Given the description of an element on the screen output the (x, y) to click on. 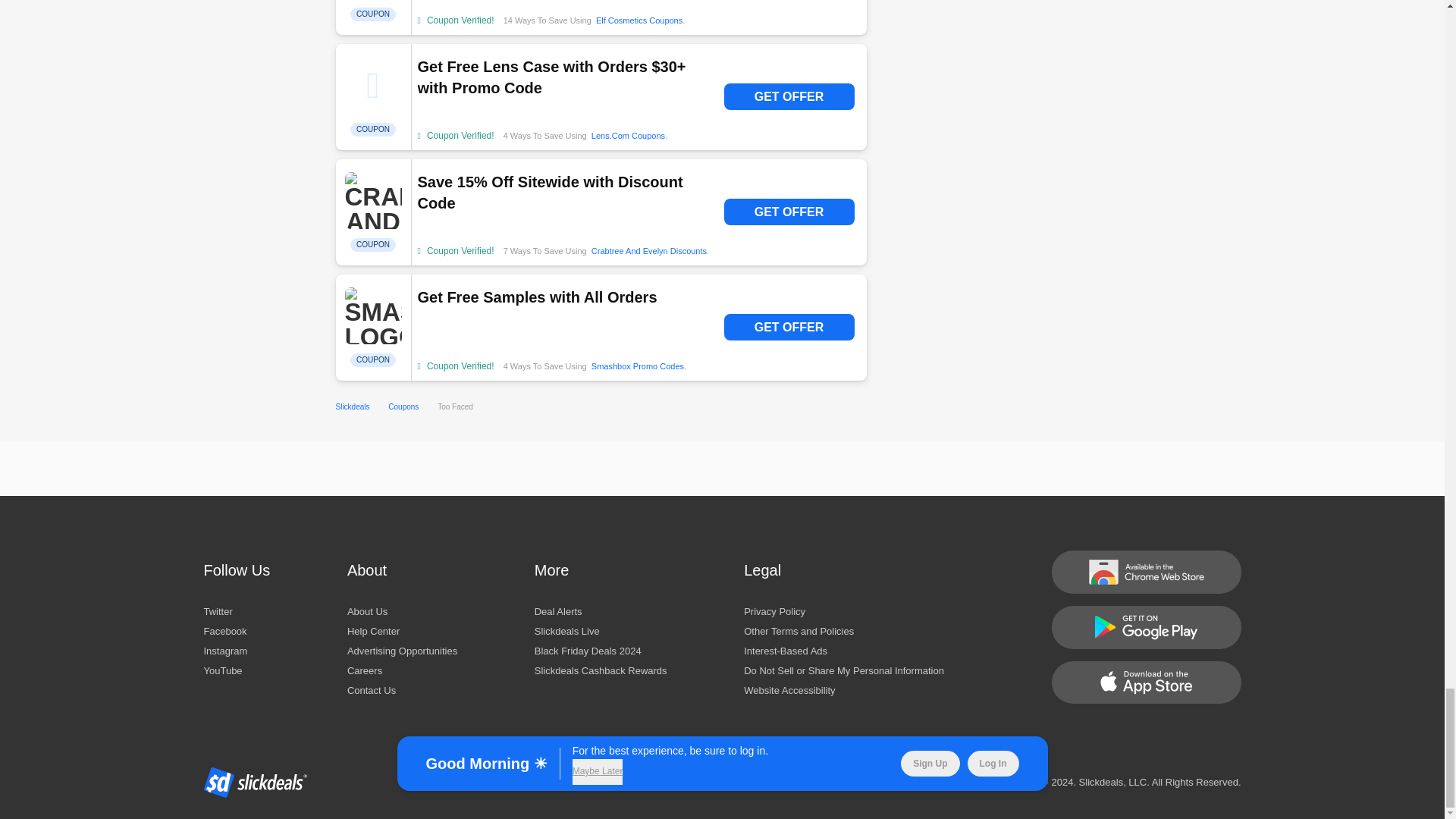
Install the Slickdeals Extension (1145, 570)
Install the Slickdeals Android App (1145, 627)
Install the Slickdeals iOS App (1145, 681)
